Given the description of an element on the screen output the (x, y) to click on. 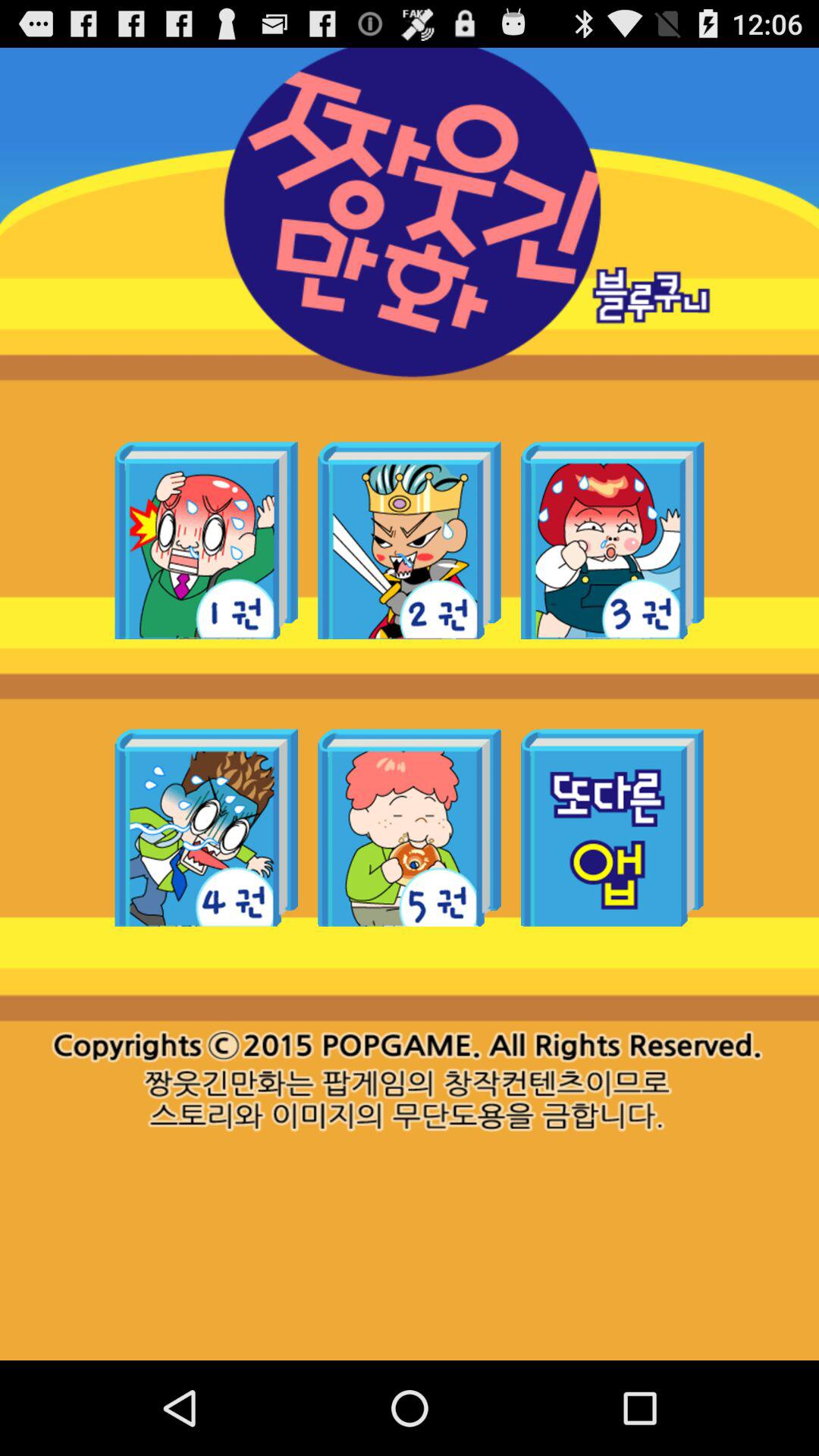
flashing to click on japanese game (206, 827)
